Given the description of an element on the screen output the (x, y) to click on. 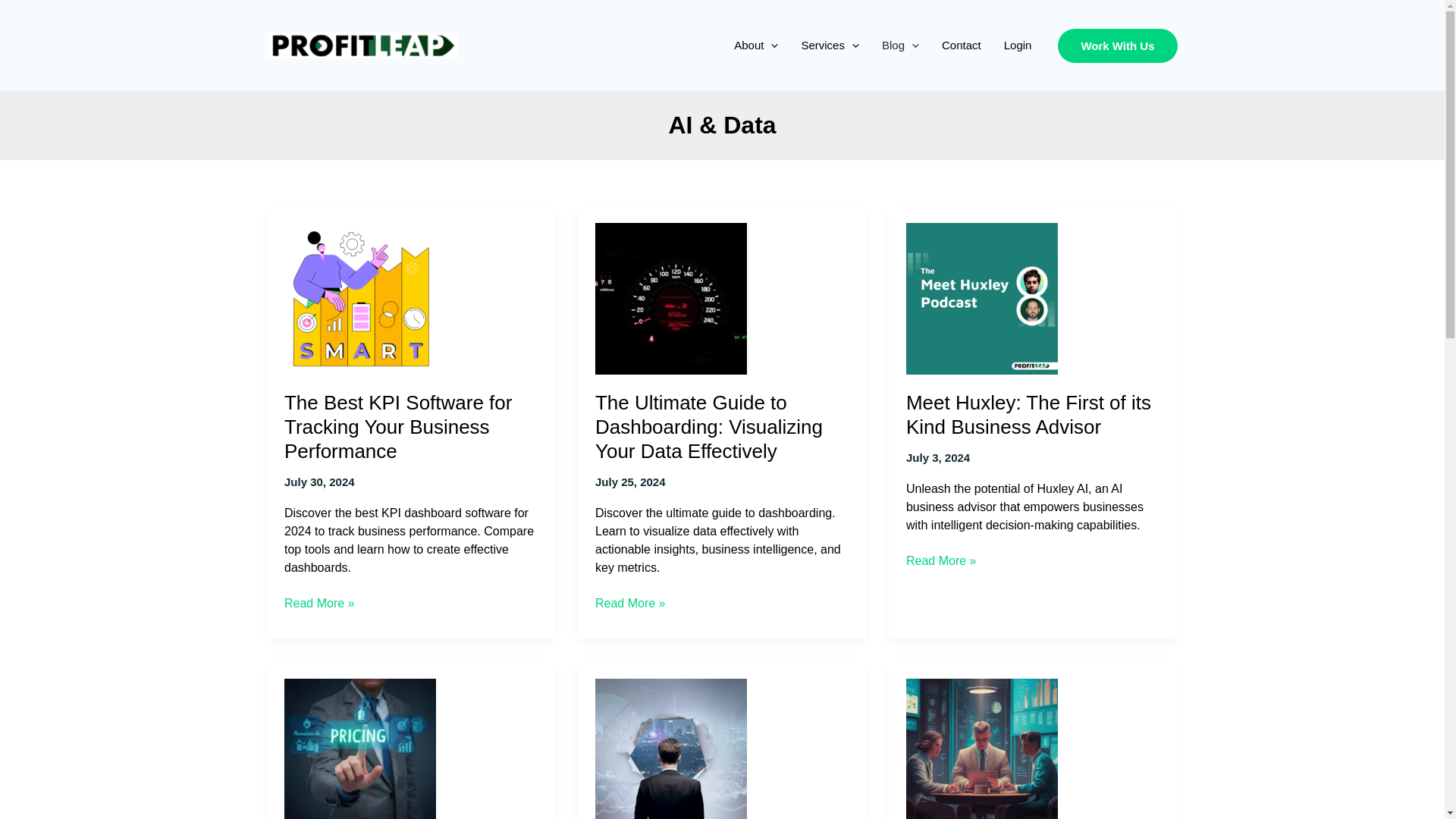
Meet Huxley: The First of its Kind Business Advisor (1028, 414)
Services (829, 45)
The Best KPI Software for Tracking Your Business Performance (397, 426)
Work With Us (1117, 45)
